Given the description of an element on the screen output the (x, y) to click on. 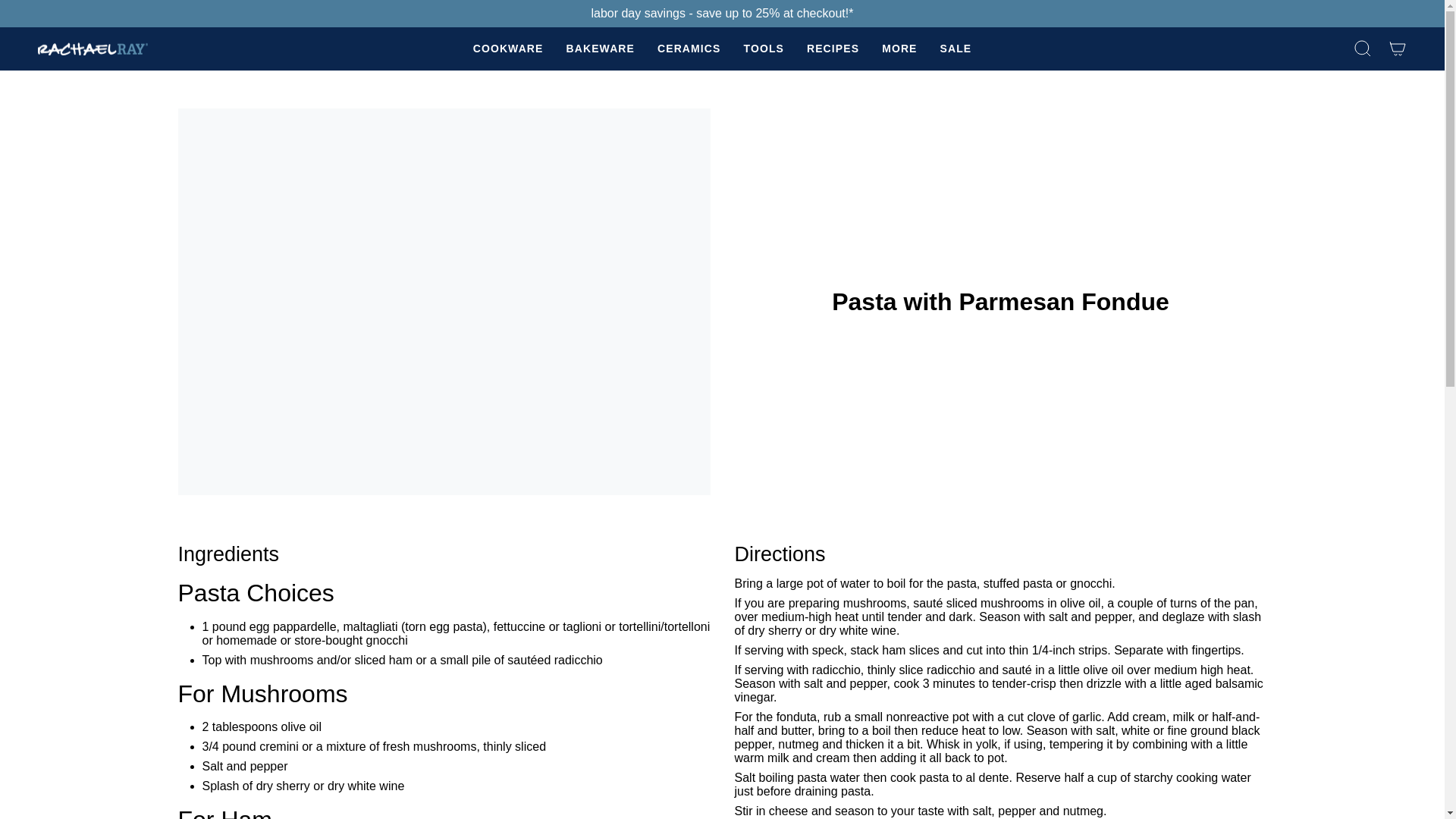
Search (1362, 48)
COOKWARE (507, 48)
Cart (1397, 48)
